Given the description of an element on the screen output the (x, y) to click on. 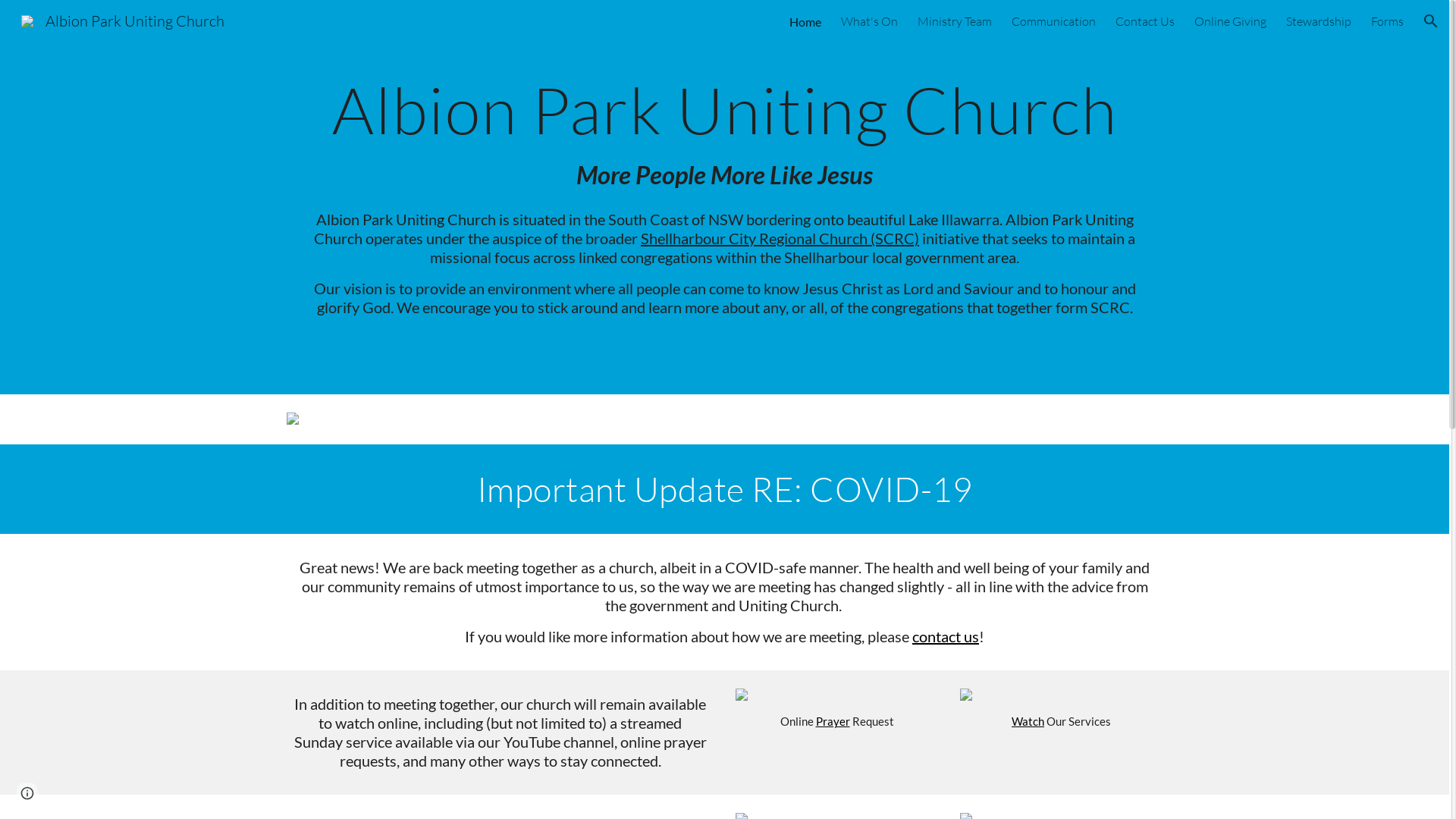
What's On Element type: text (868, 20)
Watch Element type: text (1027, 721)
Online Giving Element type: text (1230, 20)
Albion Park Uniting Church Element type: text (122, 18)
Communication Element type: text (1053, 20)
Stewardship Element type: text (1318, 20)
Forms Element type: text (1387, 20)
Ministry Team Element type: text (954, 20)
Shellharbour City Regional Church (SCRC) Element type: text (779, 238)
Prayer Element type: text (832, 721)
Home Element type: text (805, 20)
Contact Us Element type: text (1144, 20)
contact us Element type: text (945, 636)
